Given the description of an element on the screen output the (x, y) to click on. 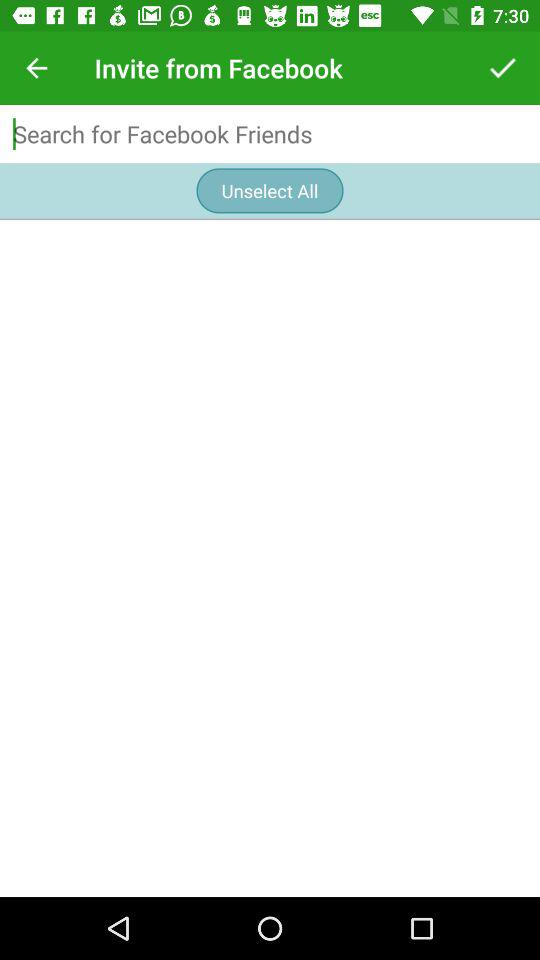
turn off the app to the right of the invite from facebook icon (503, 67)
